Given the description of an element on the screen output the (x, y) to click on. 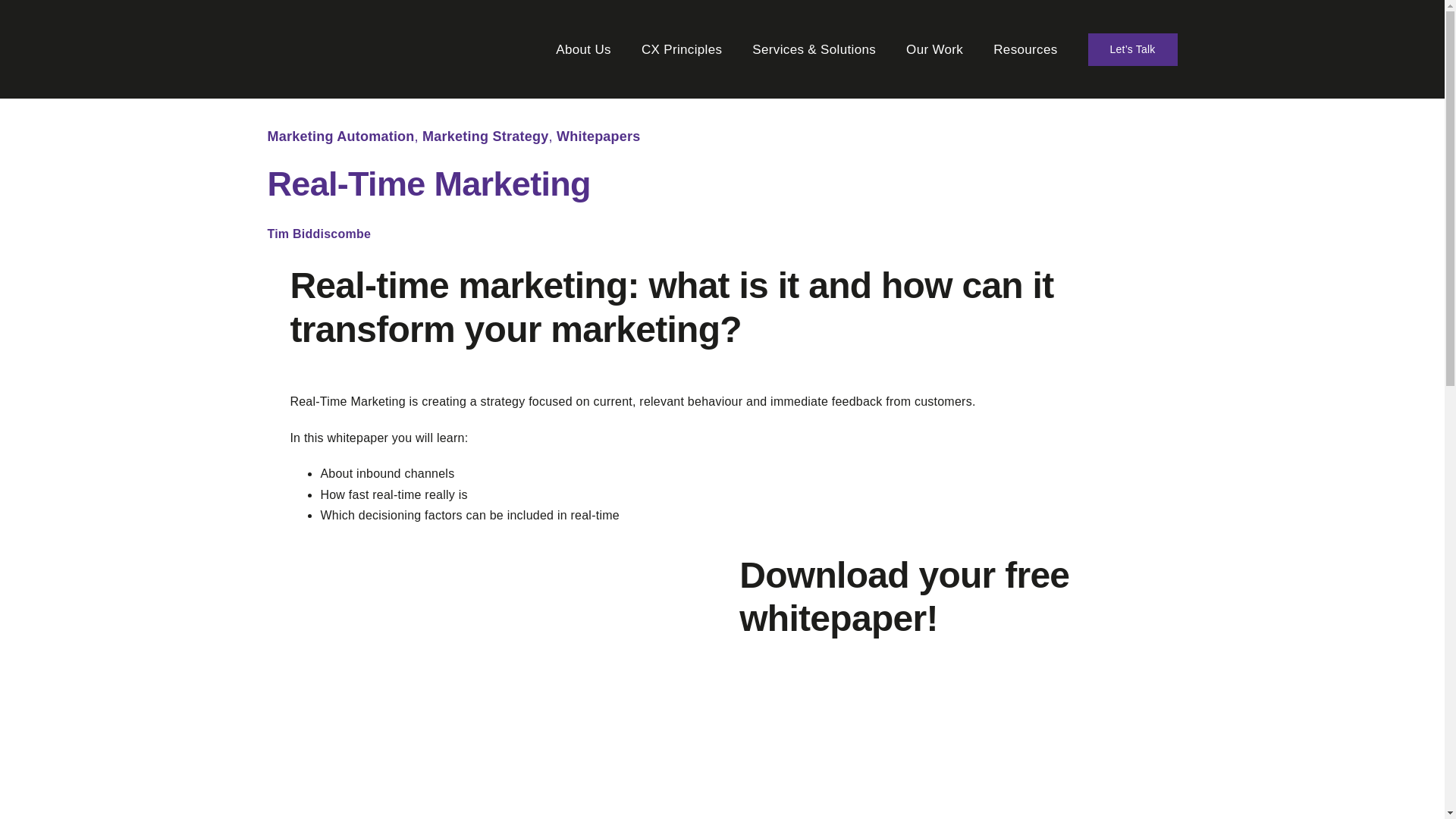
Marketing Strategy (485, 136)
Whitepapers (598, 136)
Posts by Tim Biddiscombe (318, 233)
Tim Biddiscombe (318, 233)
Marketing Automation (339, 136)
